Given the description of an element on the screen output the (x, y) to click on. 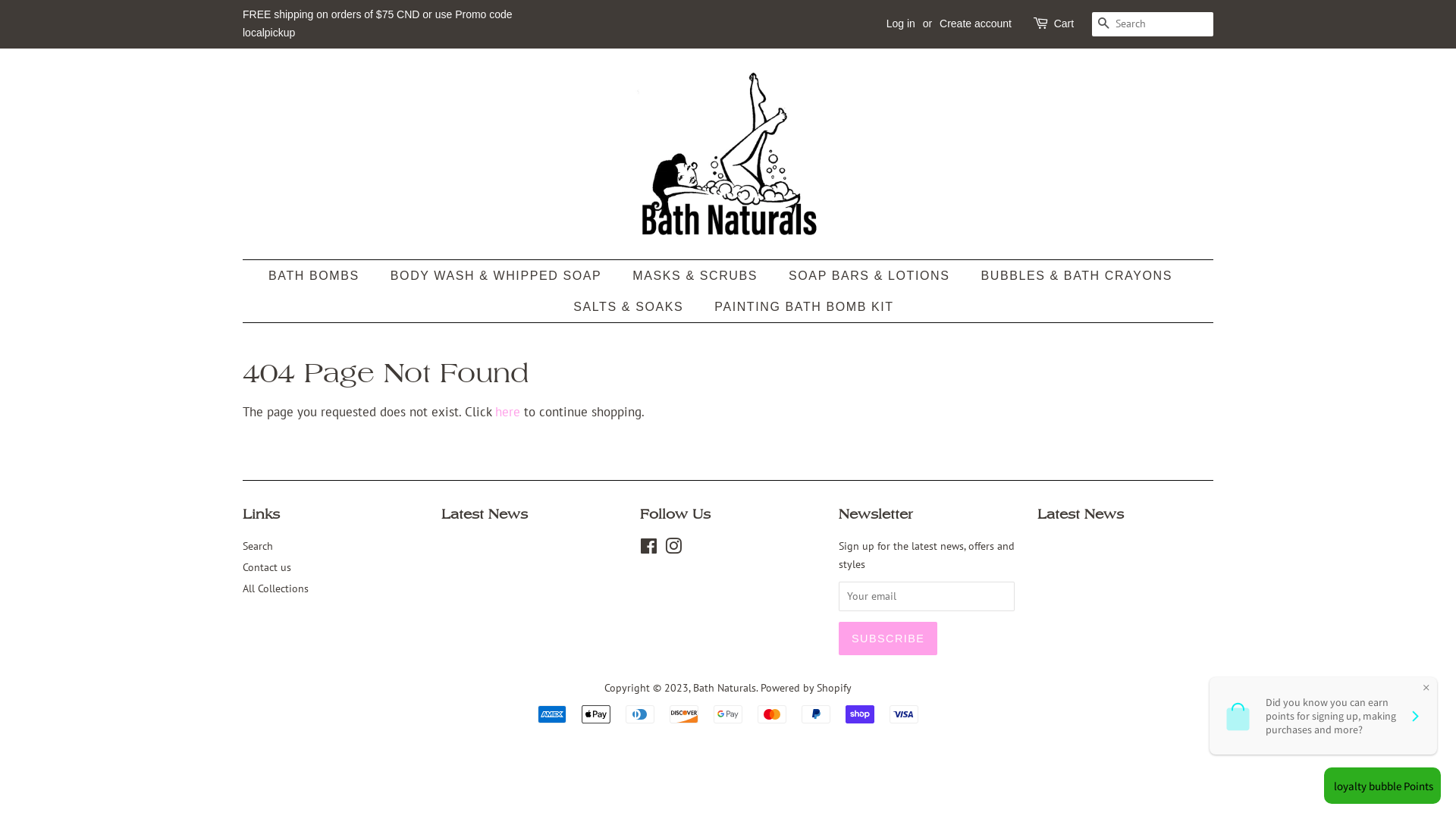
Latest News Element type: text (484, 513)
LoyaltyLion beacon Element type: hover (1379, 785)
BODY WASH & WHIPPED SOAP Element type: text (497, 275)
Bath Naturals Element type: text (724, 687)
Cart Element type: text (1063, 24)
BUBBLES & BATH CRAYONS Element type: text (1077, 275)
Log in Element type: text (900, 23)
Powered by Shopify Element type: text (805, 687)
here Element type: text (507, 411)
SEARCH Element type: text (1104, 24)
Facebook Element type: text (648, 548)
Search Element type: text (257, 545)
PAINTING BATH BOMB KIT Element type: text (797, 306)
Contact us Element type: text (266, 566)
MASKS & SCRUBS Element type: text (696, 275)
BATH BOMBS Element type: text (321, 275)
SOAP BARS & LOTIONS Element type: text (870, 275)
Latest News Element type: text (1080, 513)
Subscribe Element type: text (887, 638)
Create account Element type: text (975, 23)
All Collections Element type: text (275, 587)
Instagram Element type: text (673, 548)
SALTS & SOAKS Element type: text (629, 306)
